Given the description of an element on the screen output the (x, y) to click on. 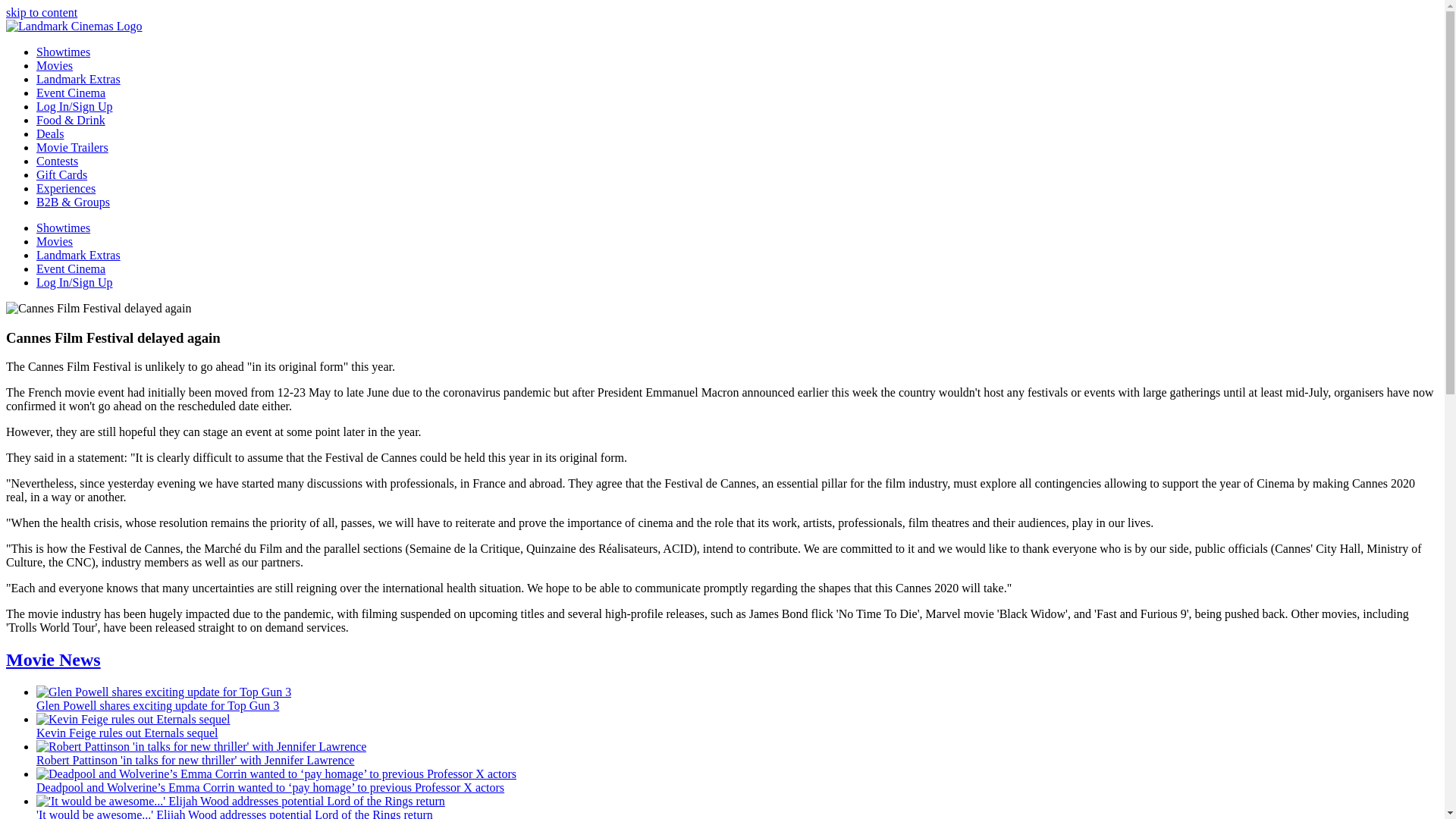
Movie Experiences and PLF (66, 187)
Landmark Extras (78, 254)
Event Cinema (70, 92)
Movie Trailers (71, 146)
Event Cinema (70, 92)
Landmark Extras (78, 254)
Event Cinema (70, 268)
Browse Movies Now Playing (54, 241)
Experiences (66, 187)
Check Local Showtimes (63, 227)
Showtimes (63, 51)
Browse Movies (54, 65)
Landmark Extras (78, 78)
Gift Cards (61, 174)
Landmark Extras (78, 78)
